Given the description of an element on the screen output the (x, y) to click on. 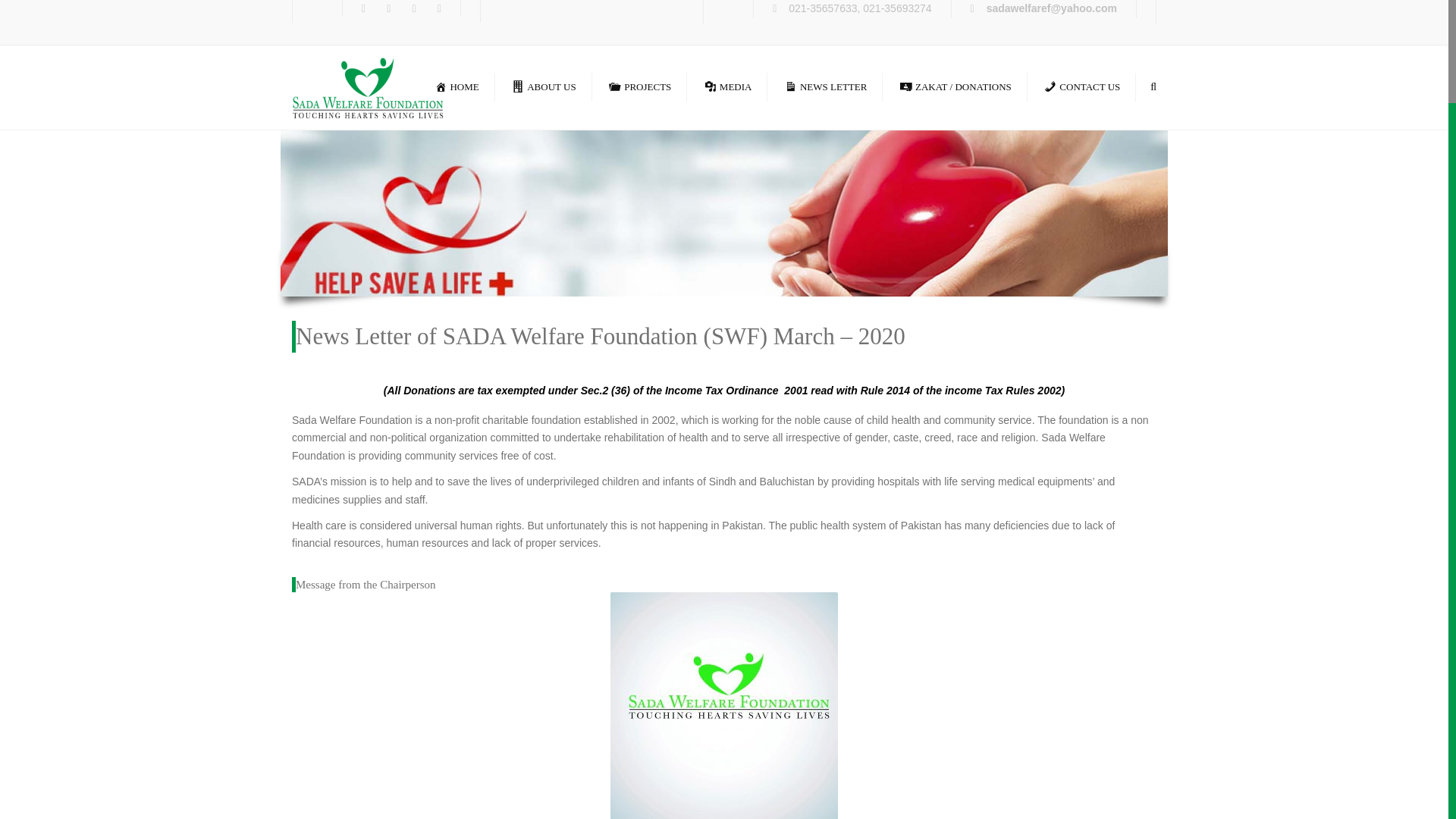
PROJECTS (639, 87)
Search (1152, 86)
NEWS LETTER (826, 87)
CONTACT US (1081, 87)
HOME (457, 87)
MEDIA (728, 87)
ABOUT US (543, 87)
